Given the description of an element on the screen output the (x, y) to click on. 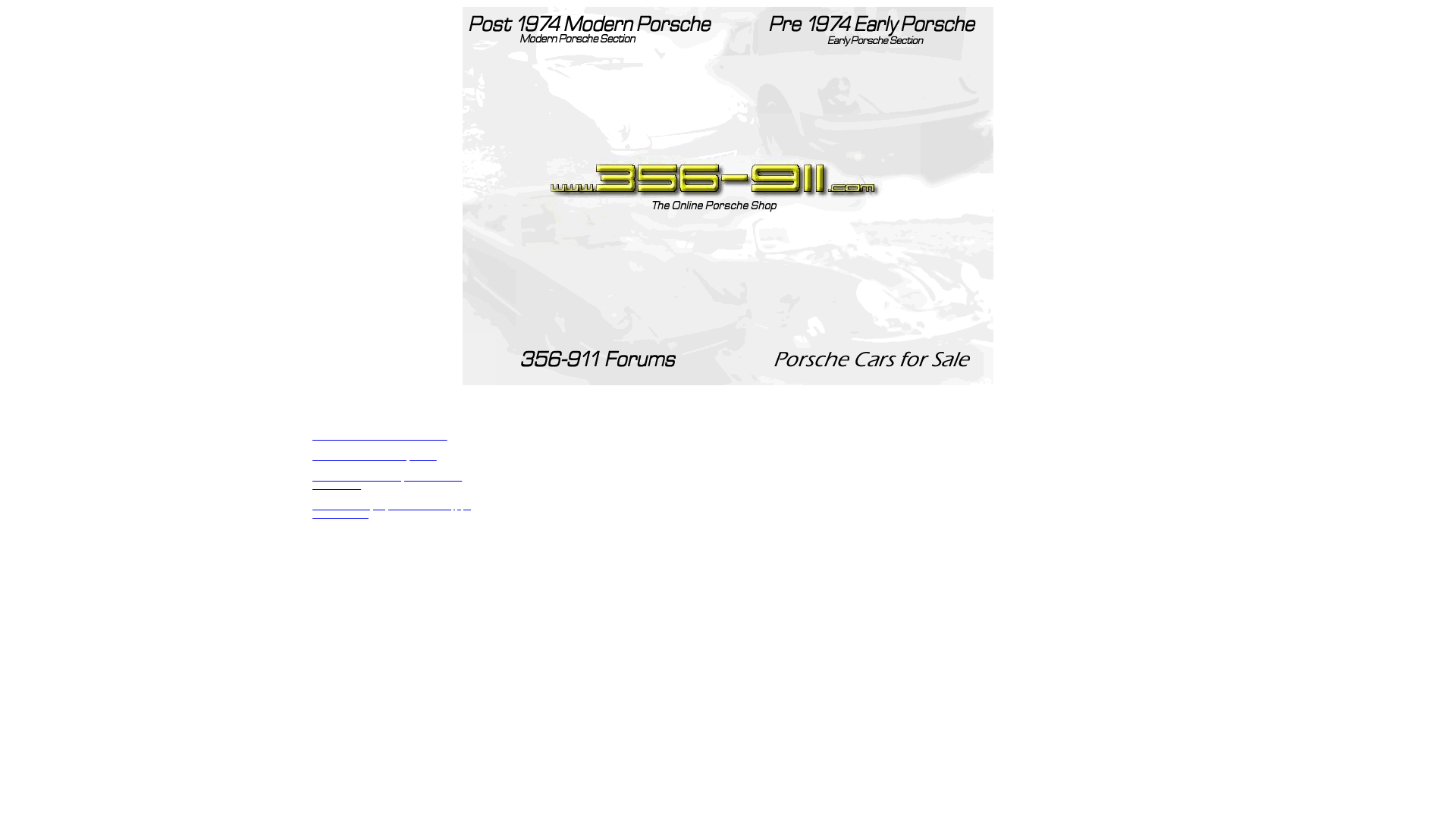
Porsche 356-911 Pre 1974 Early Porsche Element type: text (374, 456)
Porsche 356-911 Post 1974 Modern Porsche Element type: text (379, 436)
